Given the description of an element on the screen output the (x, y) to click on. 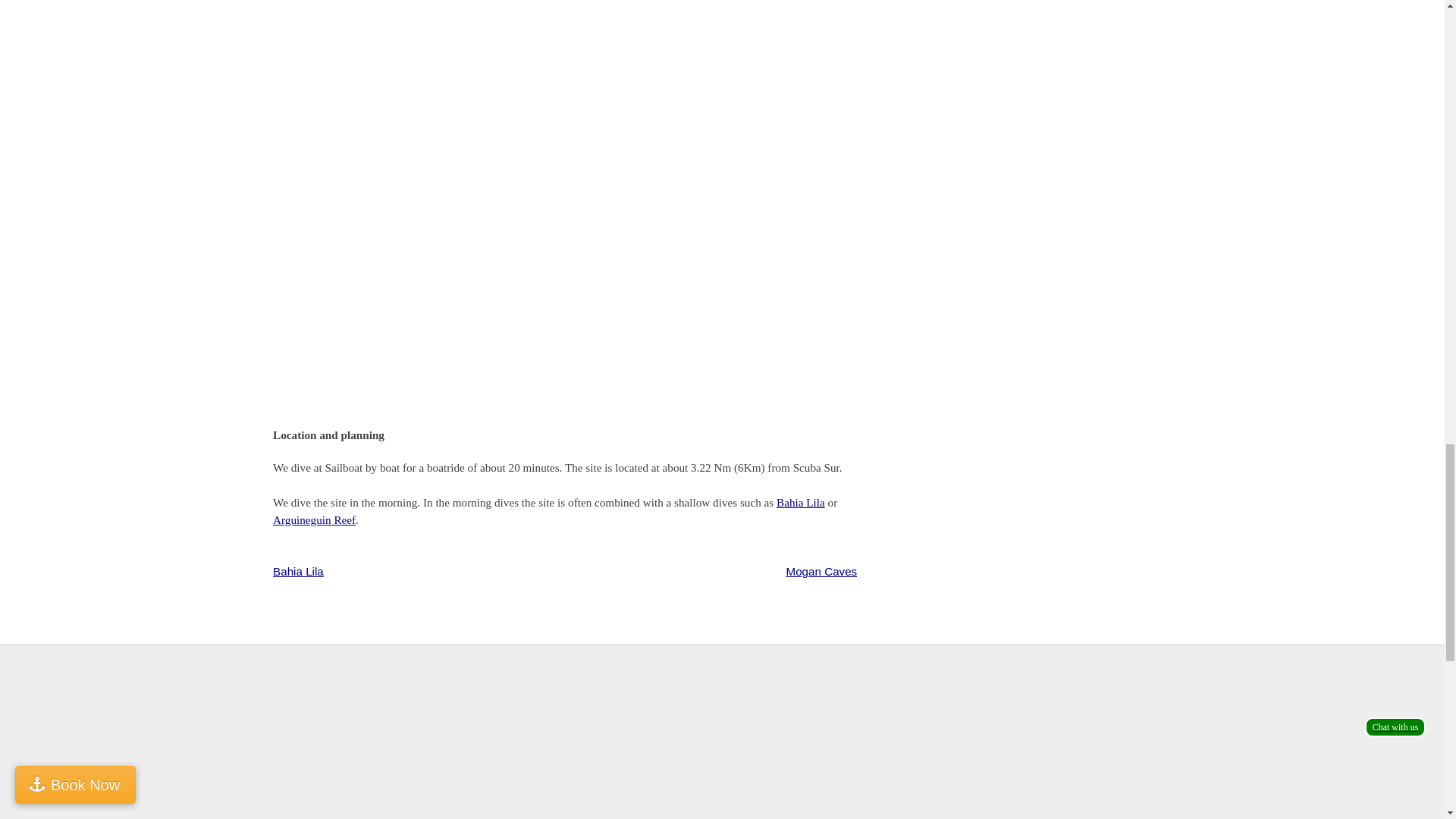
Bahia Lila (298, 571)
Mogan Caves (821, 571)
Arguineguin Reef (314, 519)
The moray eel having a peek (386, 85)
Bahia Lila (800, 502)
The helm of the sailboat (616, 290)
